Given the description of an element on the screen output the (x, y) to click on. 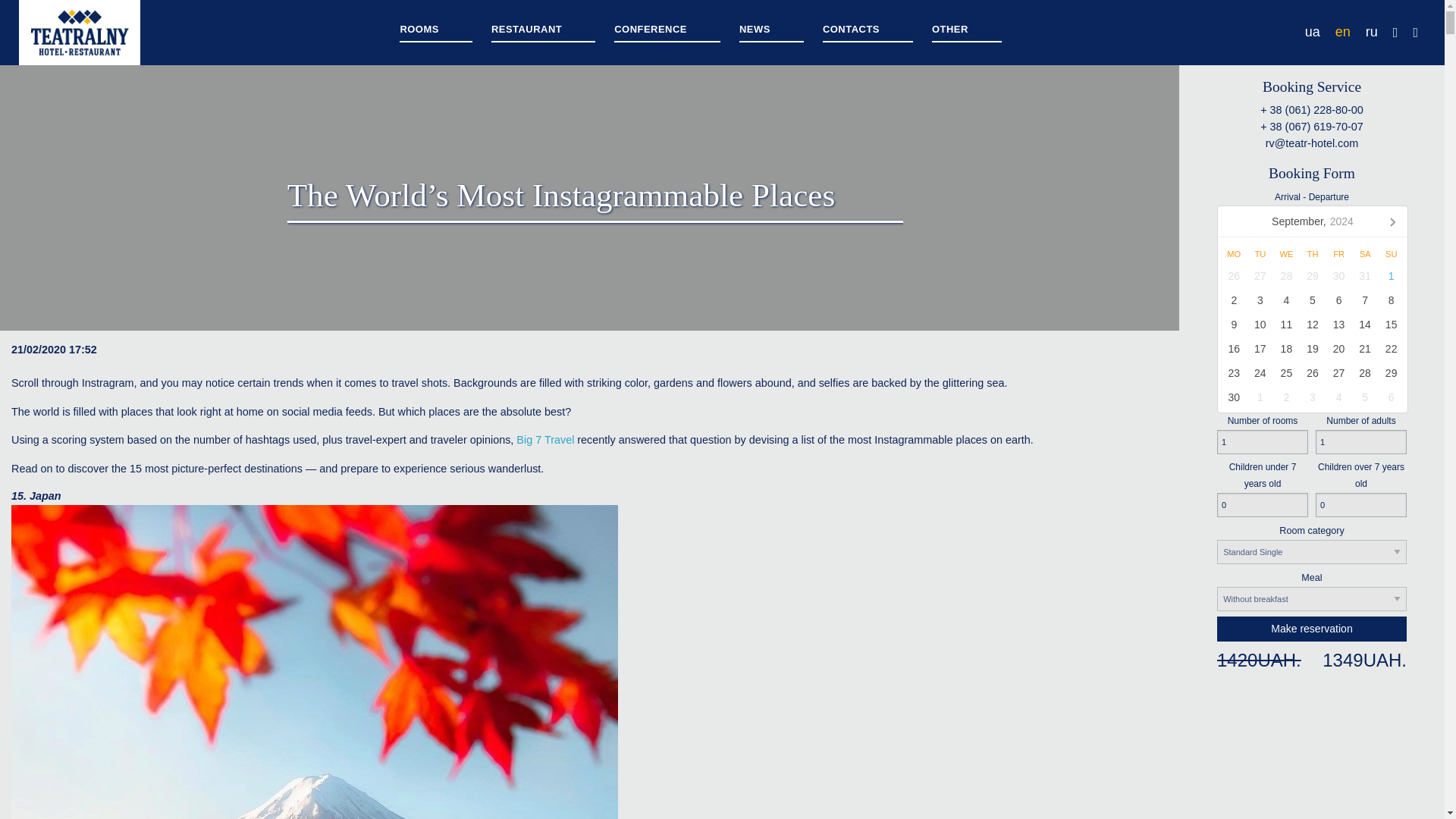
ua (1312, 31)
CONTACTS (867, 32)
OTHER (966, 32)
1 (1262, 442)
ROOMS (434, 32)
0 (1262, 505)
0 (1361, 505)
Big 7 Travel  (546, 439)
RESTAURANT (543, 32)
Make reservation (1311, 628)
